Given the description of an element on the screen output the (x, y) to click on. 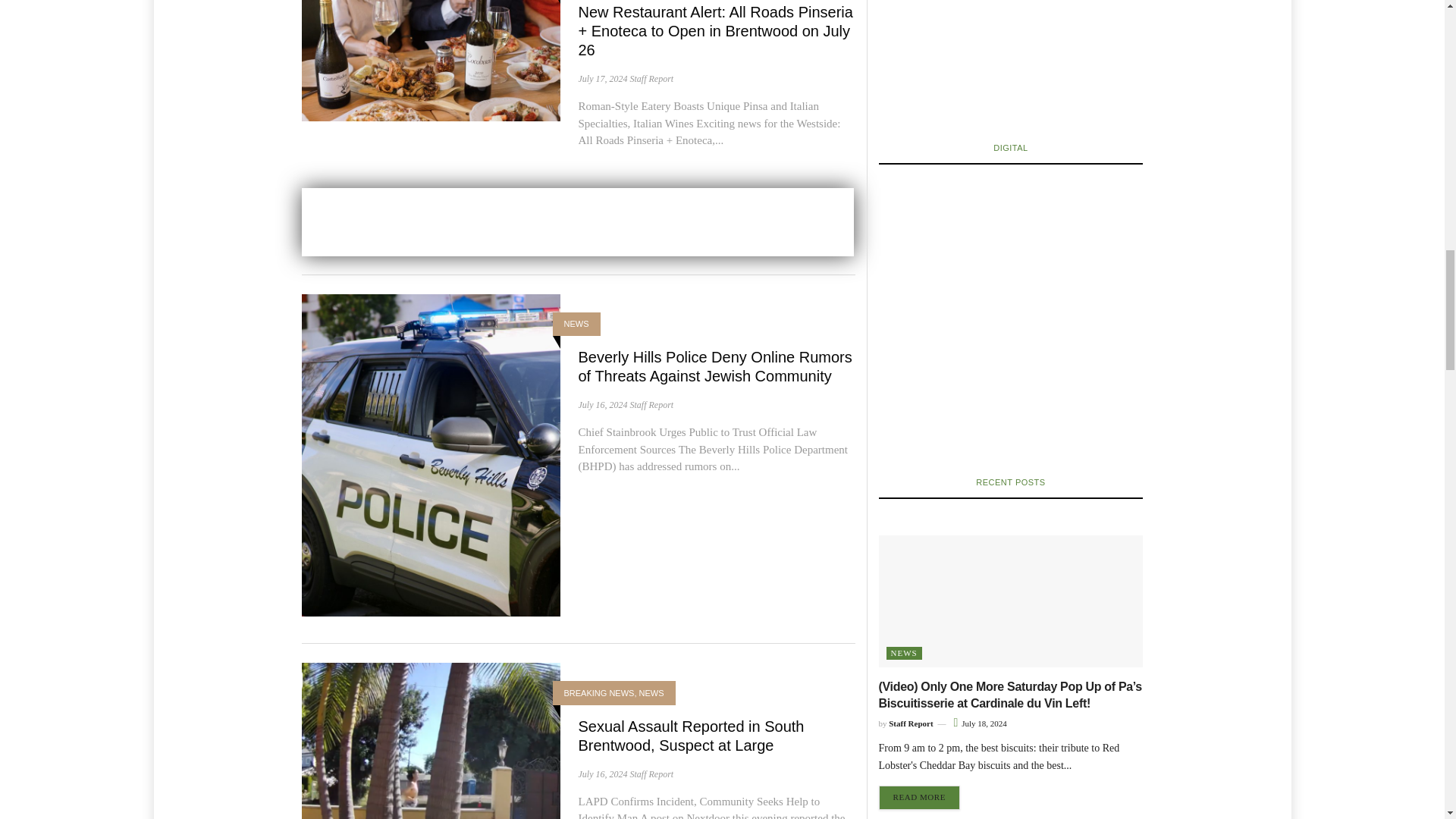
Posts by Staff Report (650, 78)
